Given the description of an element on the screen output the (x, y) to click on. 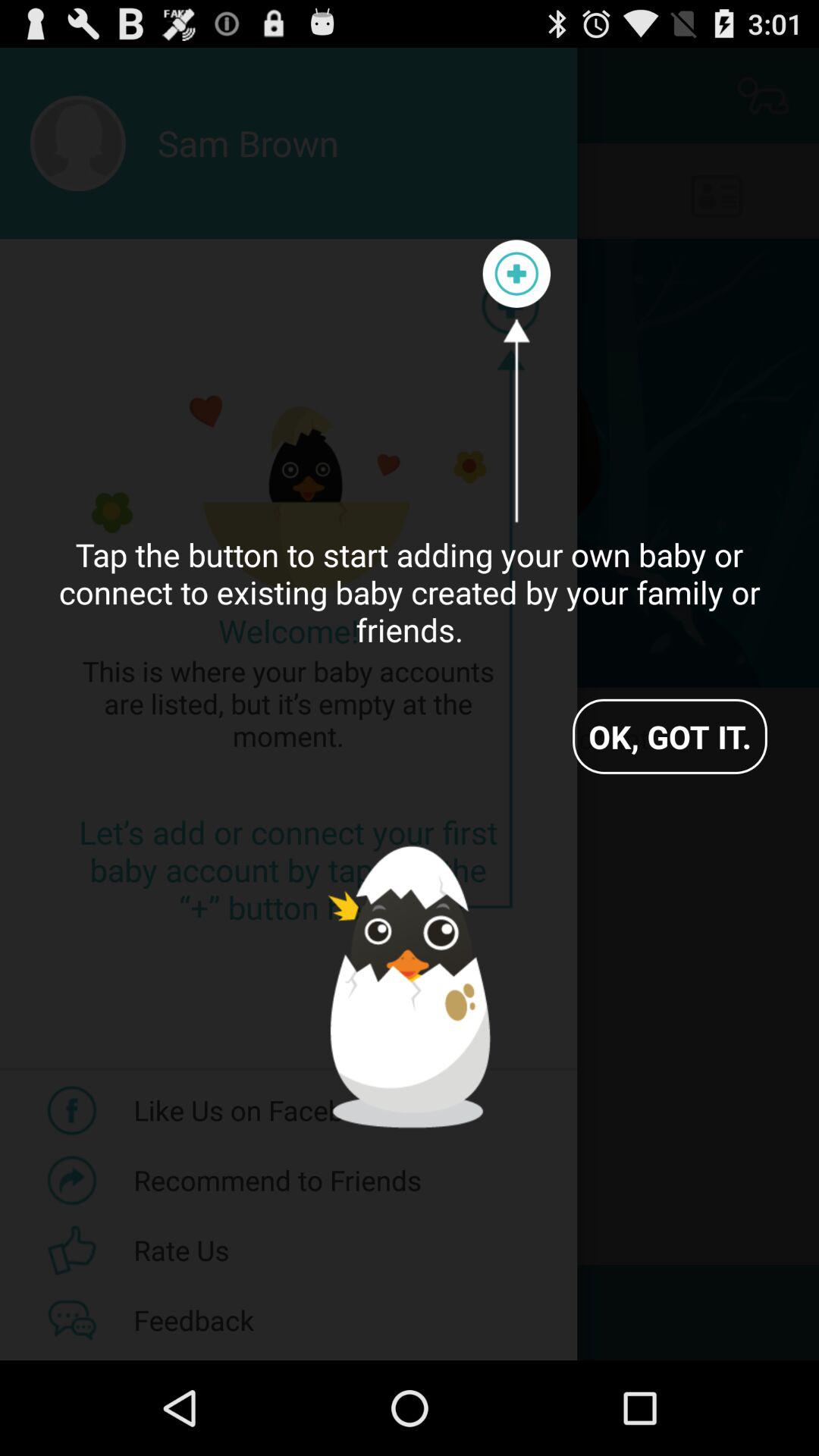
choose the ok, got it. (669, 736)
